Given the description of an element on the screen output the (x, y) to click on. 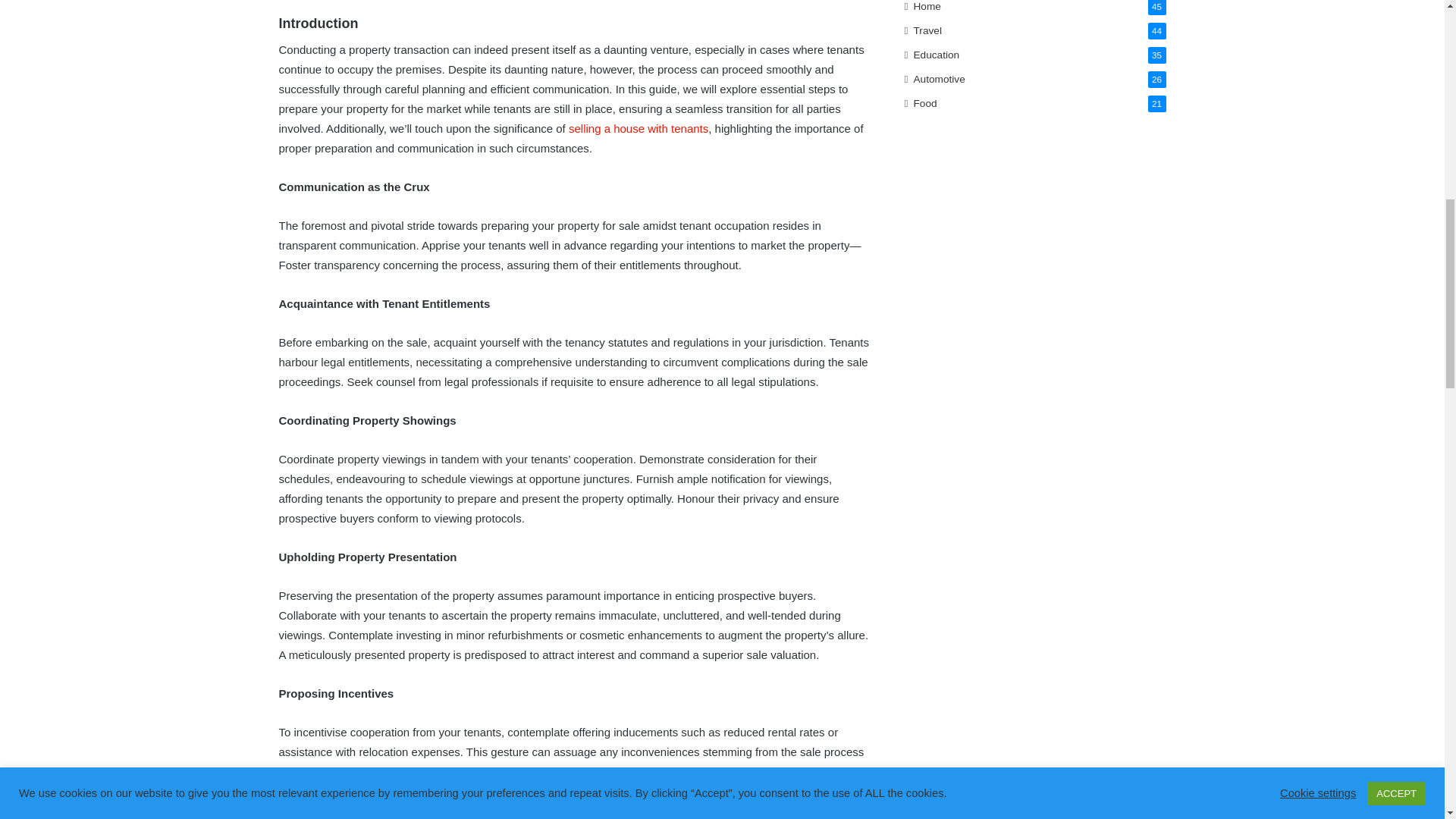
selling a house with tenants (638, 128)
